Given the description of an element on the screen output the (x, y) to click on. 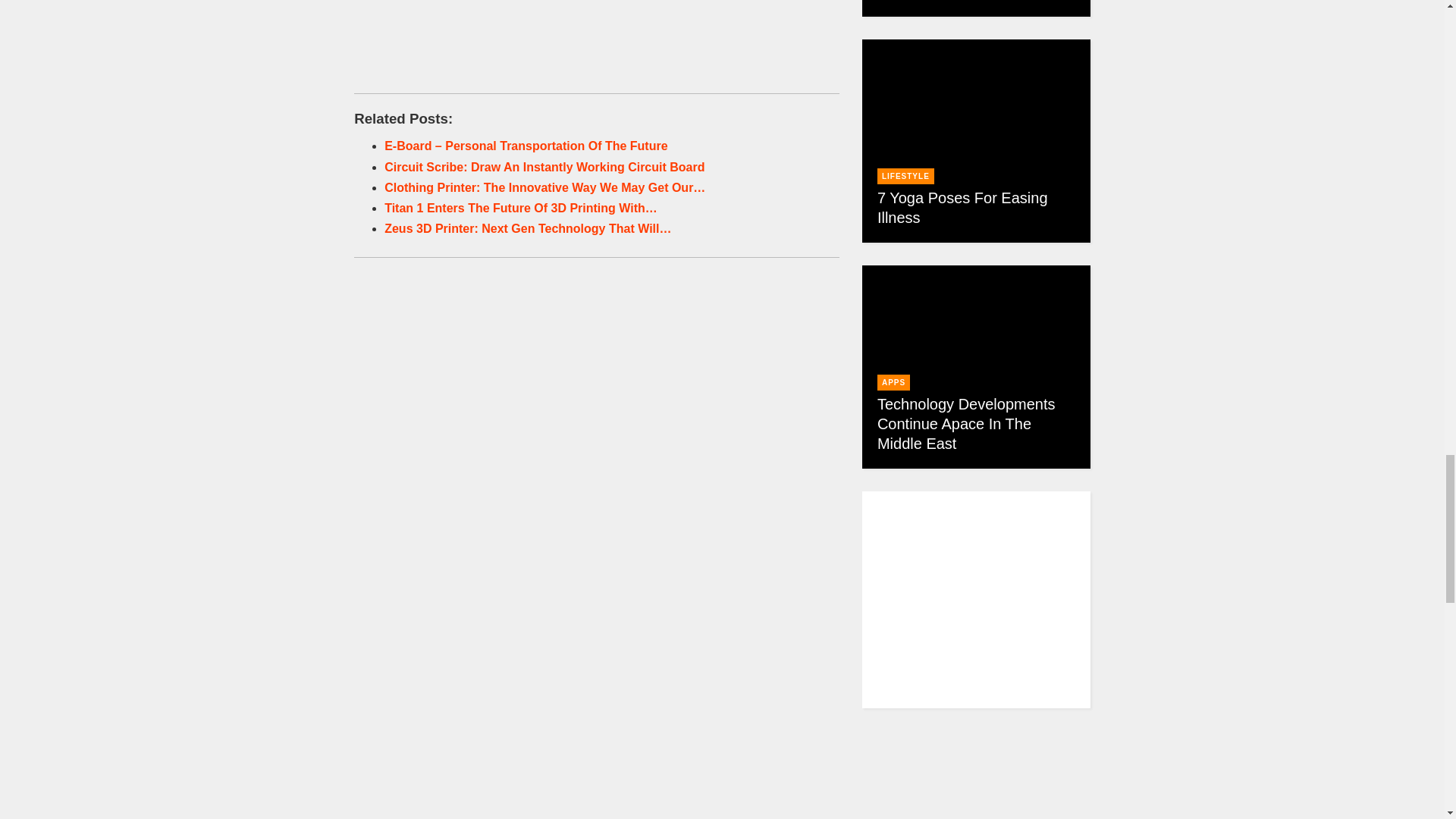
EX1 Circuit Board Printer (596, 683)
EX1 Circuit Board Printer (596, 414)
EX1 Circuit Board Printer (596, 23)
